Given the description of an element on the screen output the (x, y) to click on. 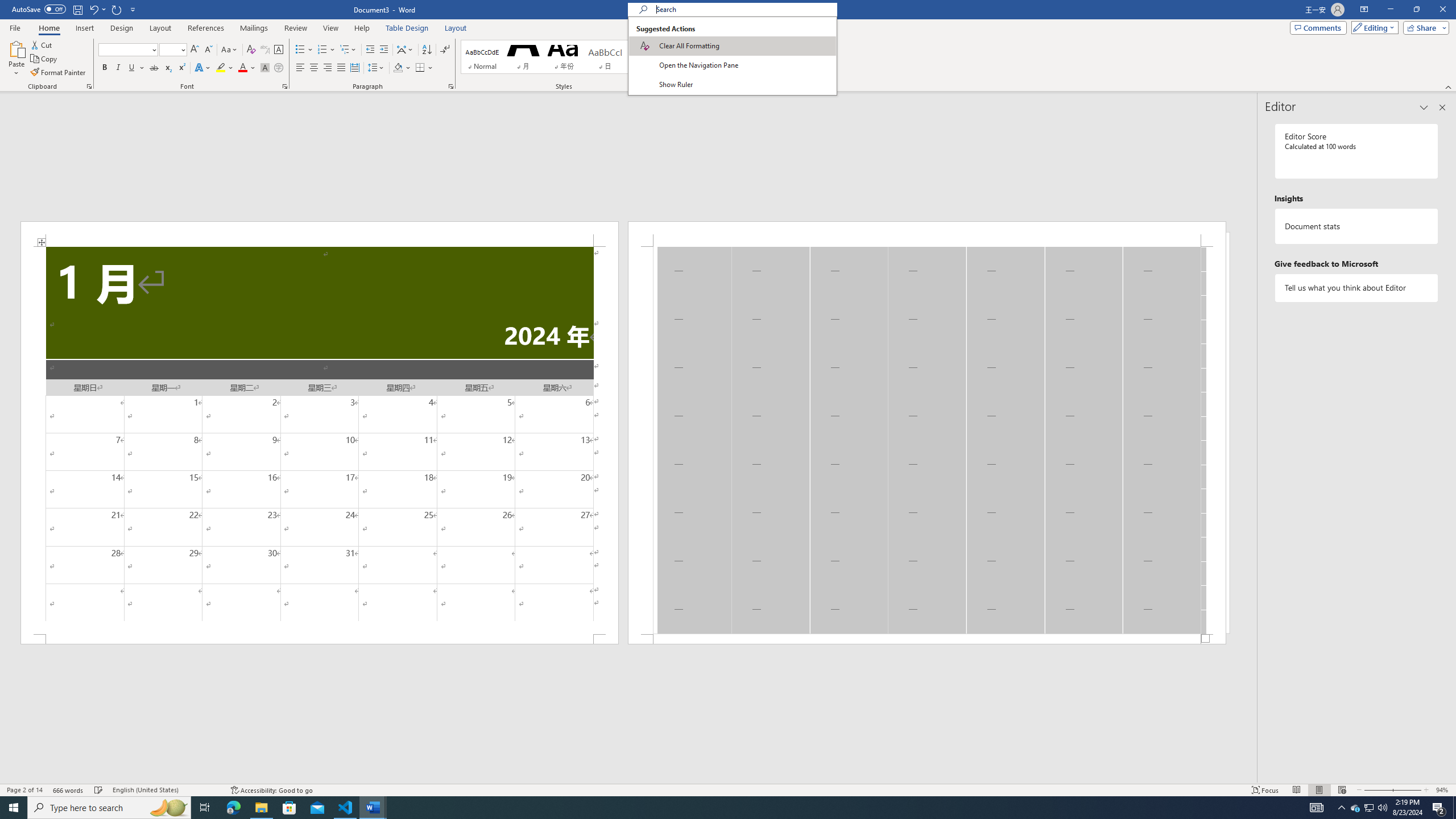
Quick Access Toolbar (74, 9)
Styles (670, 67)
Shading (402, 67)
Replace... (705, 56)
Class: NetUIImage (671, 68)
Web Layout (1342, 790)
Page 1 content (319, 439)
Minimize (1390, 9)
Customize Quick Access Toolbar (133, 9)
Show/Hide Editing Marks (444, 49)
Shrink Font (208, 49)
Numbering (326, 49)
Page 2 content (926, 439)
Character Border (278, 49)
